Given the description of an element on the screen output the (x, y) to click on. 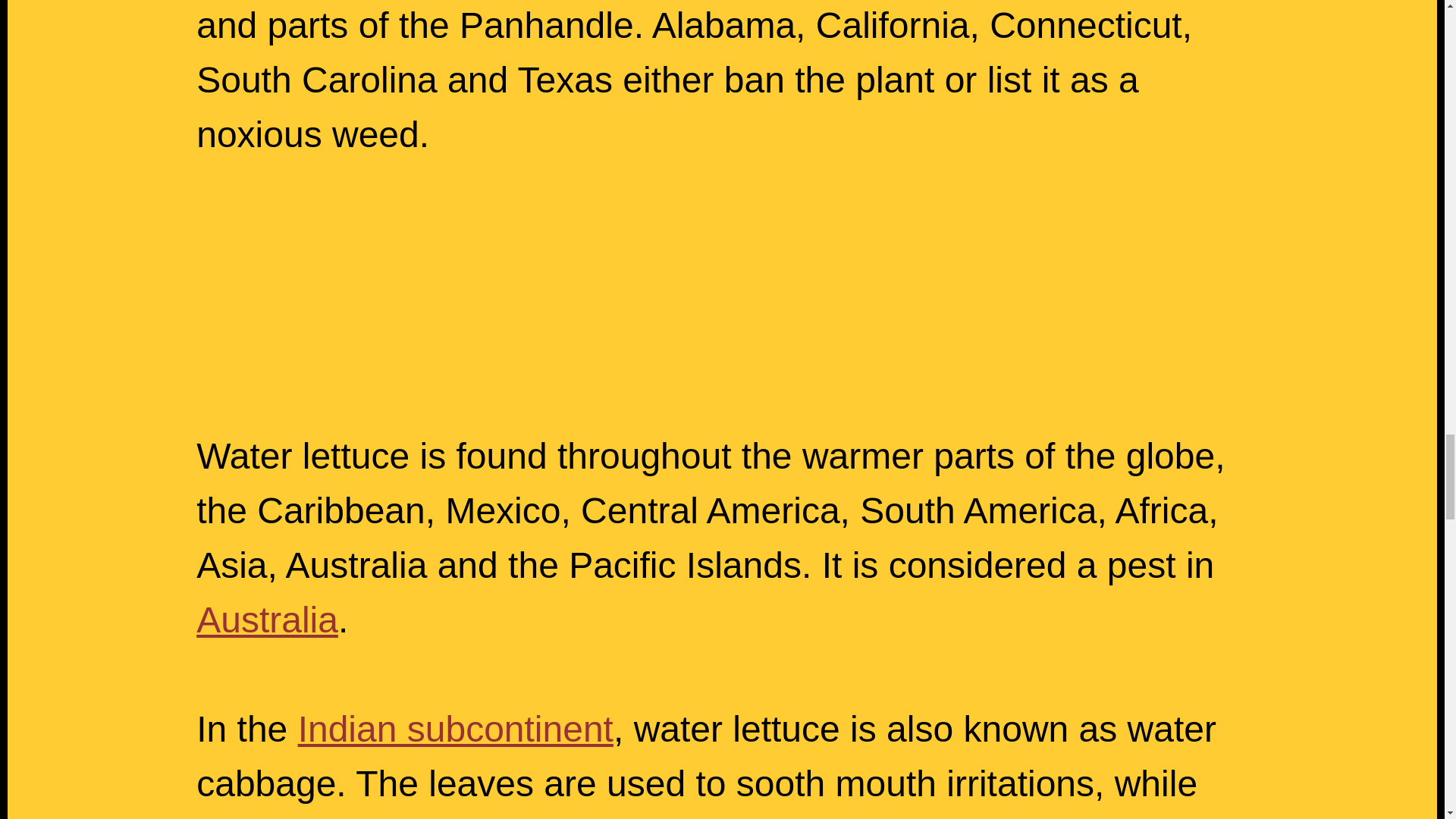
Indian subcontinent (455, 729)
Australia (266, 619)
